Given the description of an element on the screen output the (x, y) to click on. 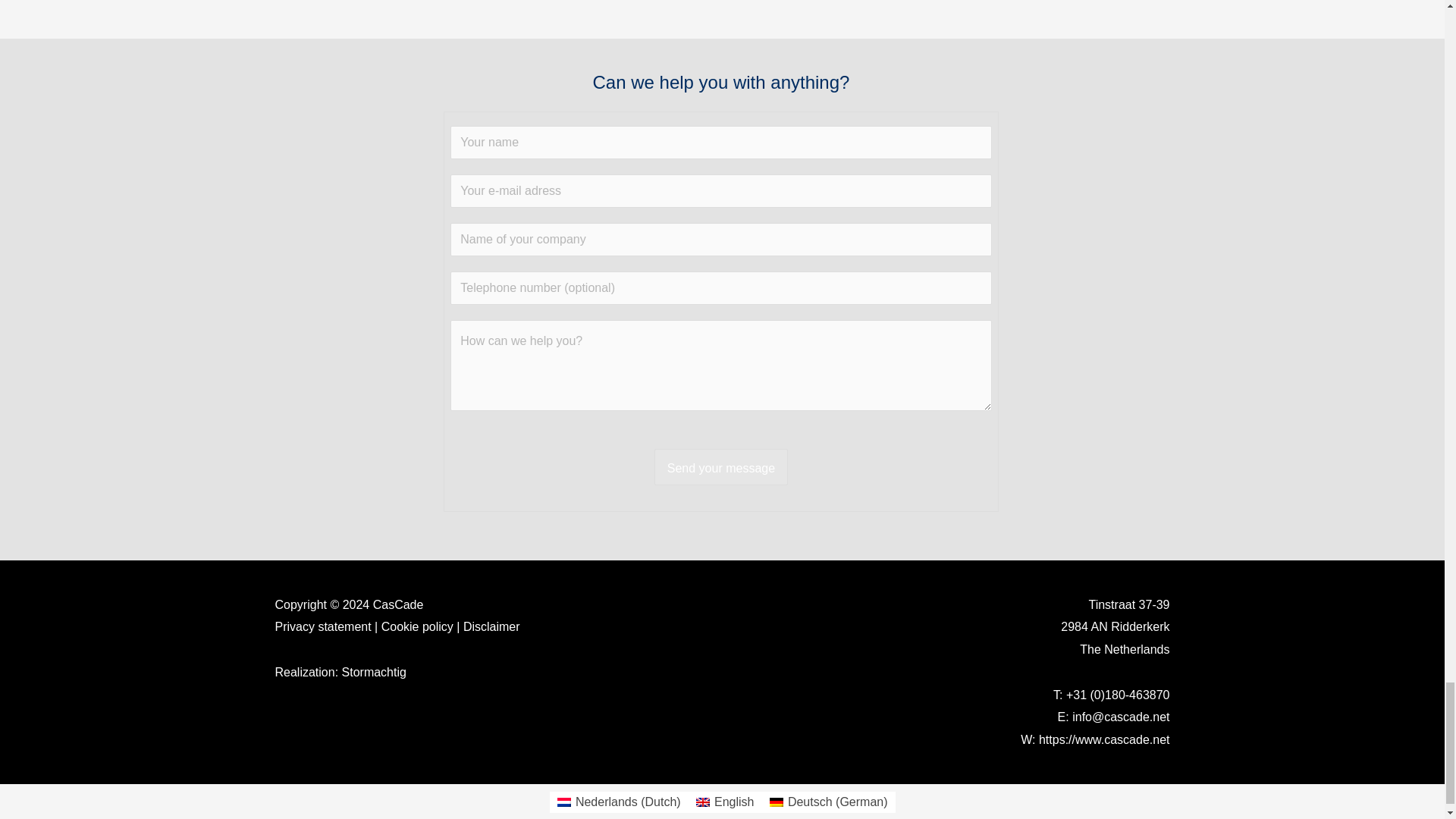
Disclaimer (491, 626)
Cookie policy (416, 626)
Privacy statement (323, 626)
Send your message (720, 466)
